Given the description of an element on the screen output the (x, y) to click on. 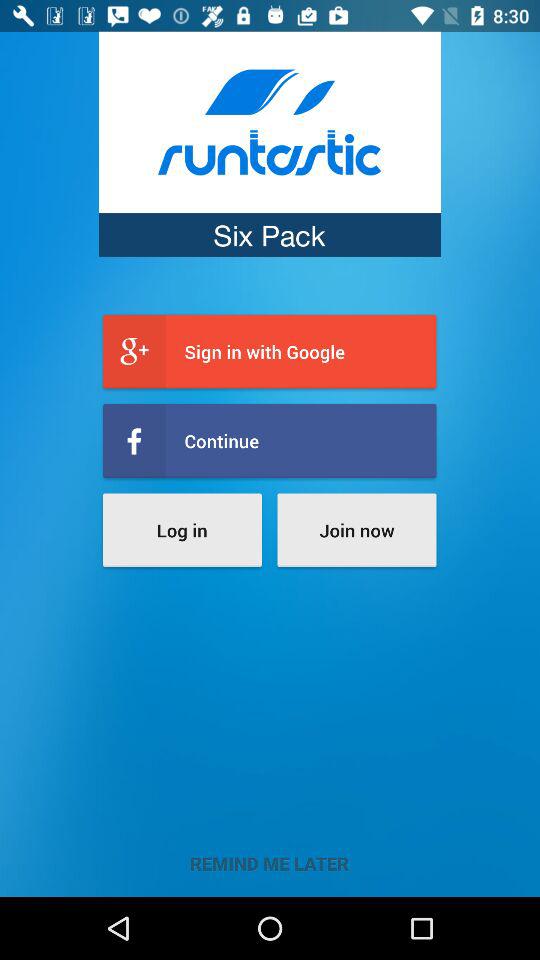
turn on the item to the left of the join now (182, 529)
